Given the description of an element on the screen output the (x, y) to click on. 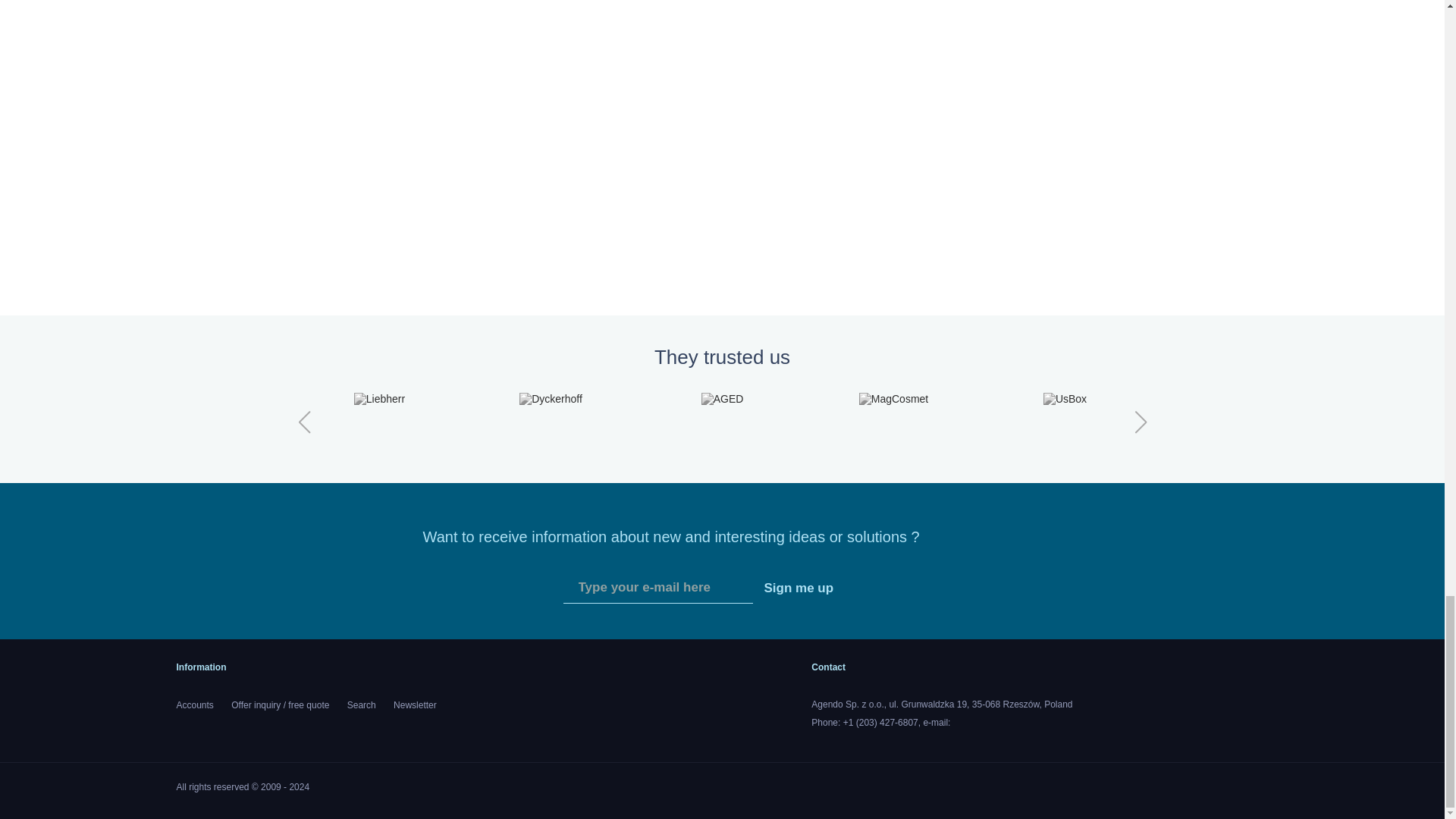
Sign me up (798, 587)
